Given the description of an element on the screen output the (x, y) to click on. 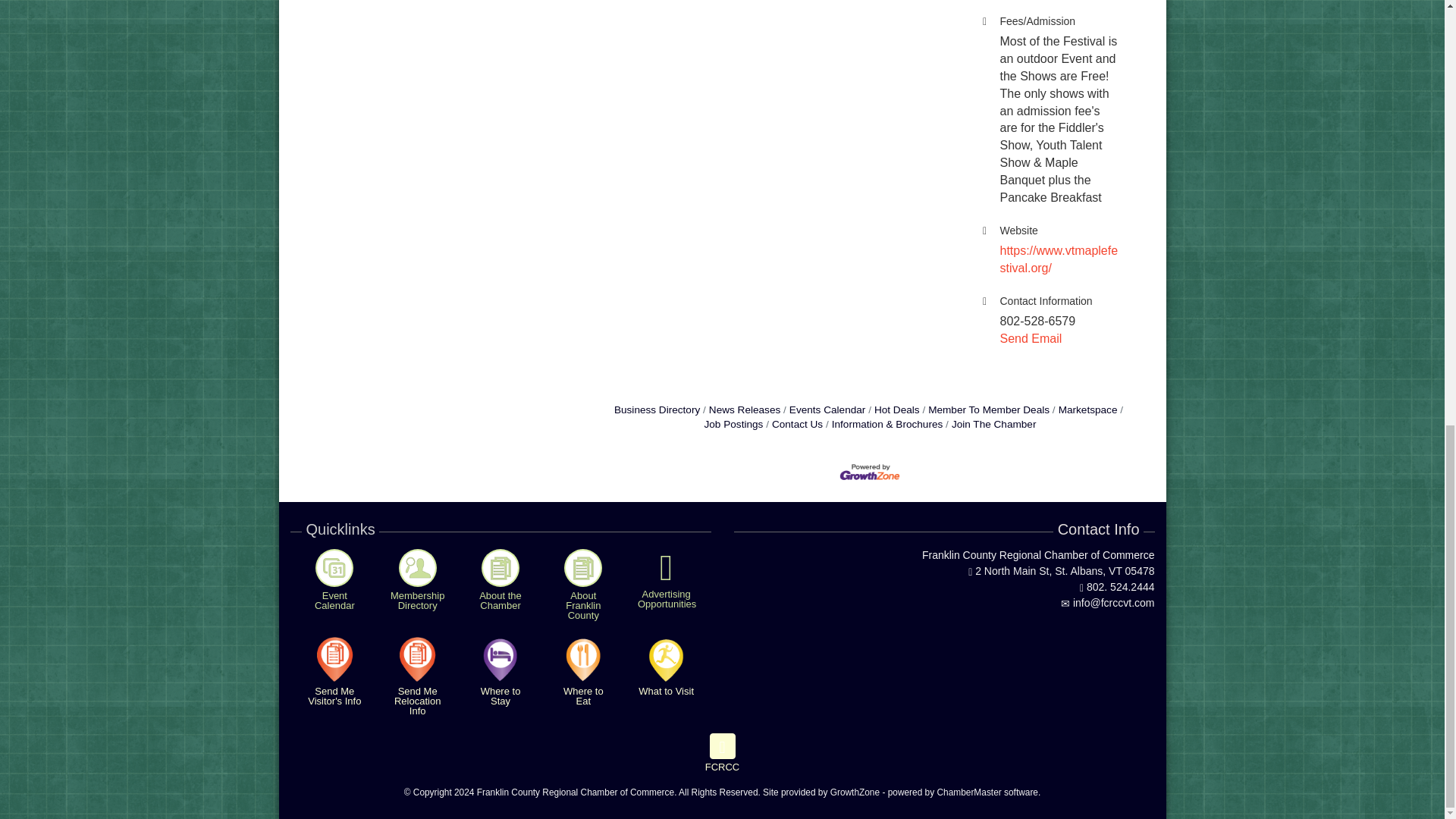
Membership Directory (417, 567)
About Franklin County (583, 567)
About the Chamber (500, 567)
 Event Calendar (334, 567)
